Given the description of an element on the screen output the (x, y) to click on. 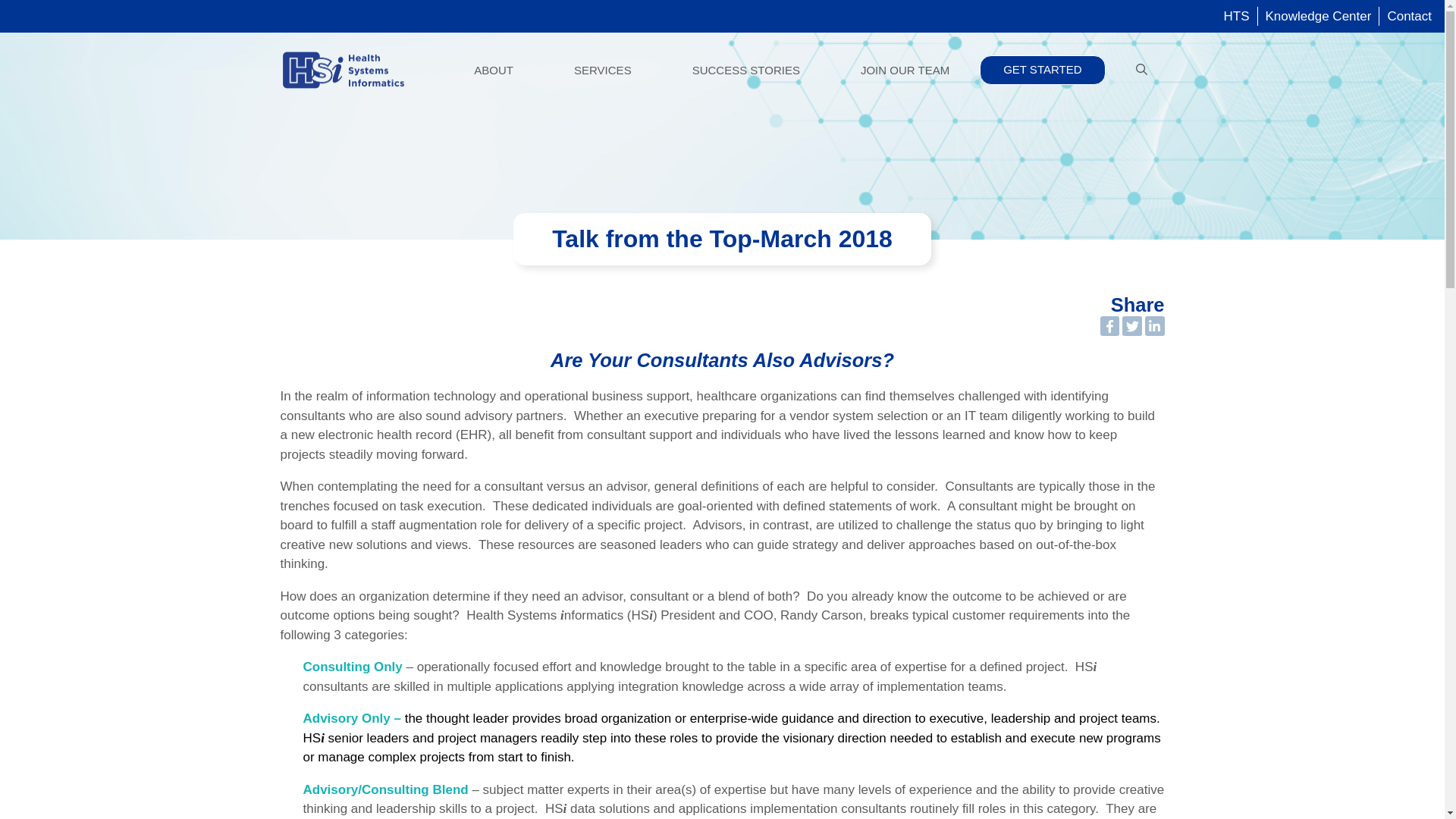
HTS (1236, 16)
Knowledge Center (1318, 16)
Contact (1409, 16)
ABOUT (493, 69)
Share on LinkedIn (1154, 325)
GET STARTED (1042, 70)
JOIN OUR TEAM (904, 69)
SUCCESS STORIES (745, 69)
Share on Twitter (1131, 325)
SERVICES (602, 69)
